Given the description of an element on the screen output the (x, y) to click on. 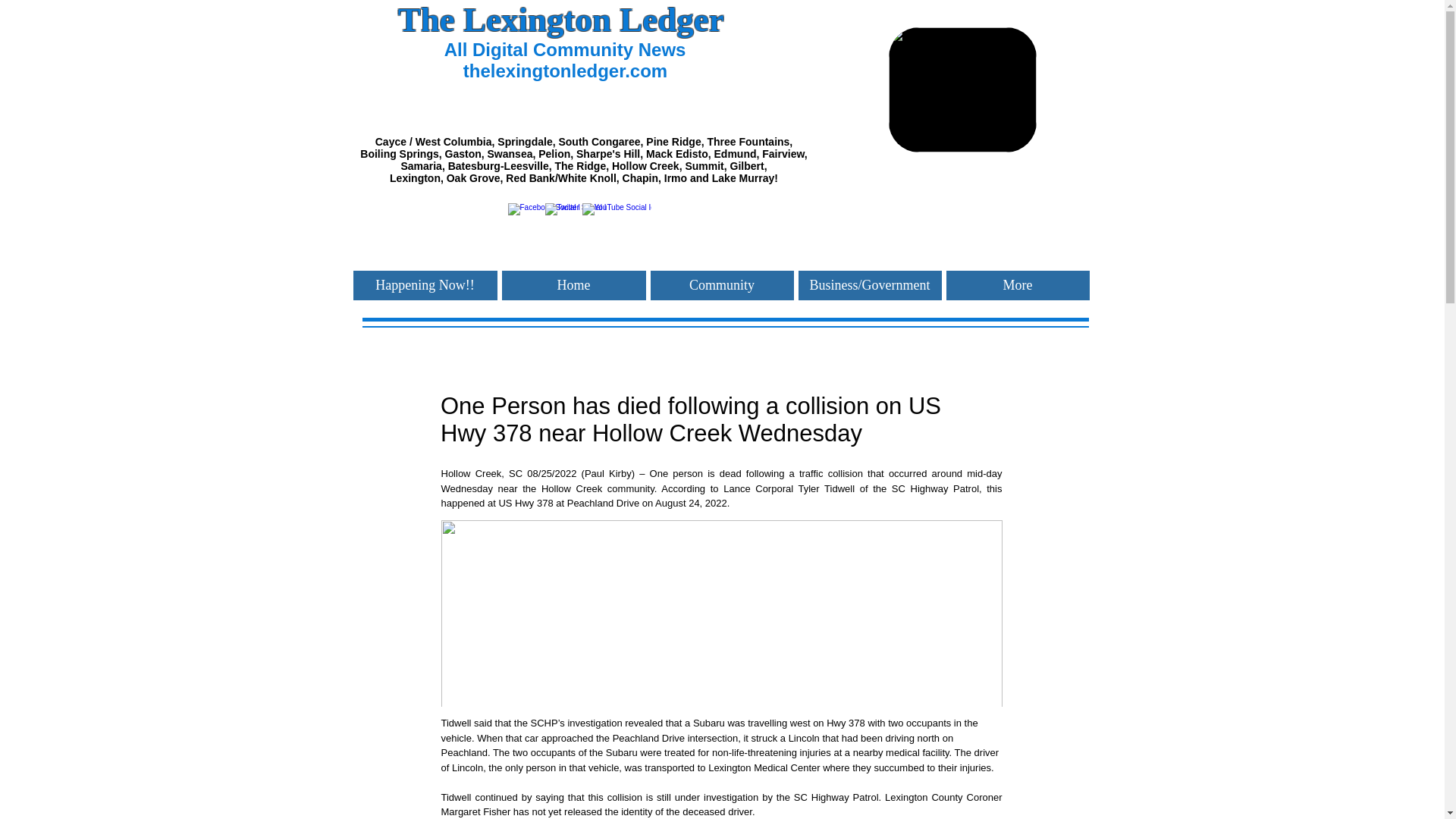
Community (721, 285)
Home (574, 285)
Happening Now!! (425, 285)
